Given the description of an element on the screen output the (x, y) to click on. 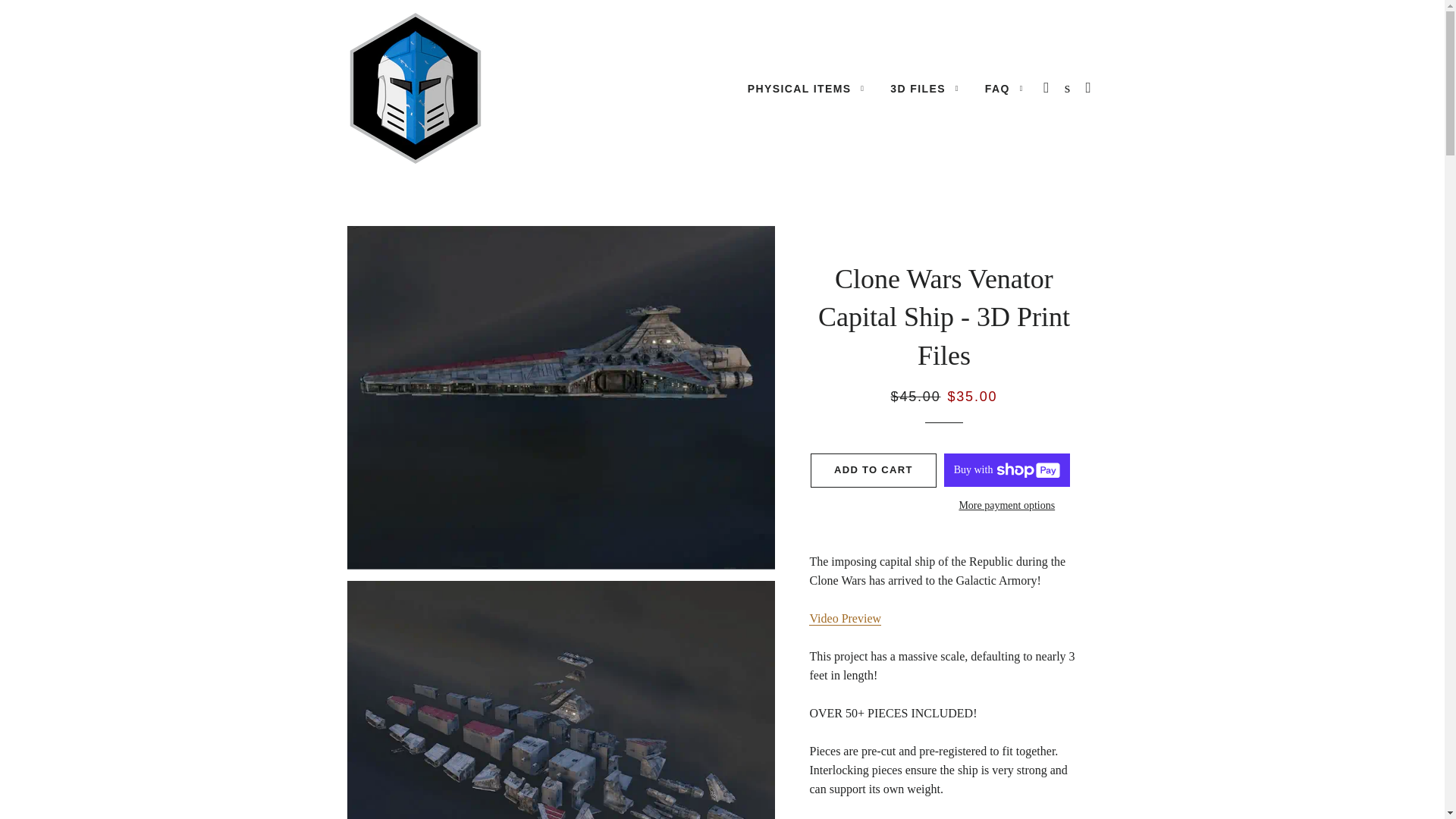
PHYSICAL ITEMS (806, 88)
Venator File Preview (844, 618)
